Given the description of an element on the screen output the (x, y) to click on. 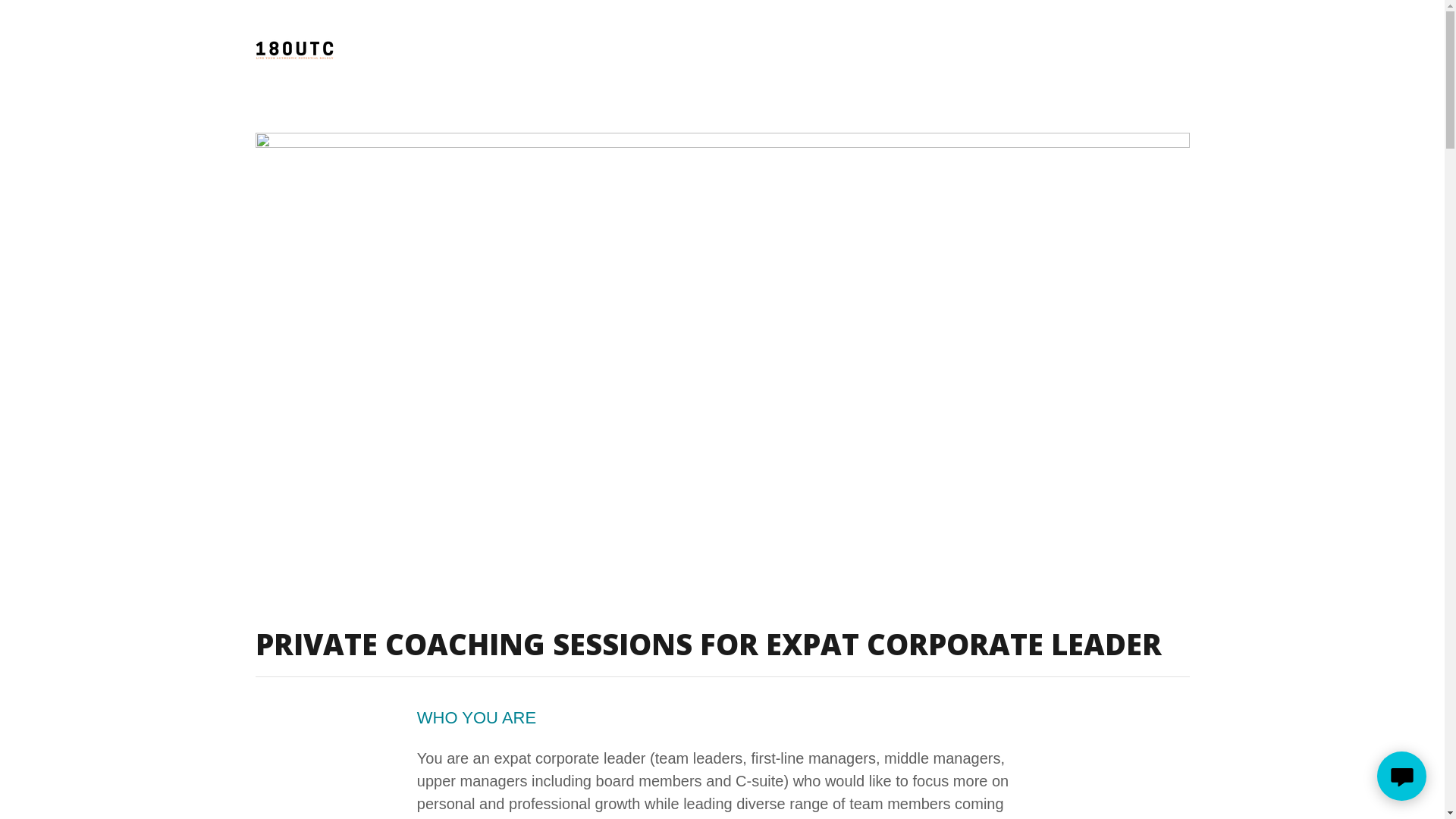
180UTC Element type: hover (293, 49)
